Given the description of an element on the screen output the (x, y) to click on. 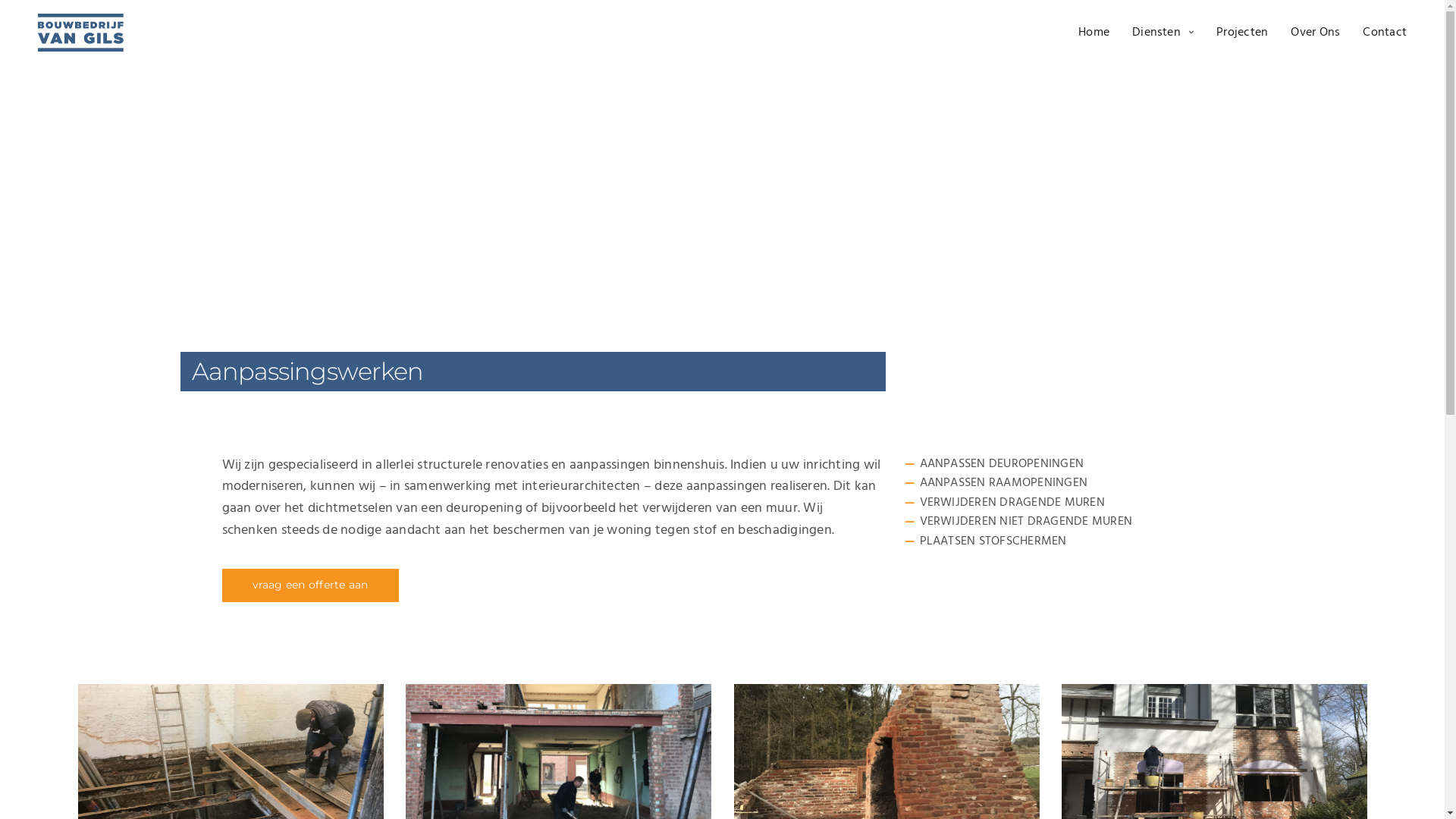
Diensten Element type: text (1162, 32)
Search Element type: text (48, 18)
vraag een offerte aan Element type: text (309, 585)
Bouwbedrijf Van Gils Element type: hover (80, 32)
Contact Element type: text (1384, 32)
Over Ons Element type: text (1314, 32)
Projecten Element type: text (1241, 32)
Home Element type: text (1093, 32)
